Given the description of an element on the screen output the (x, y) to click on. 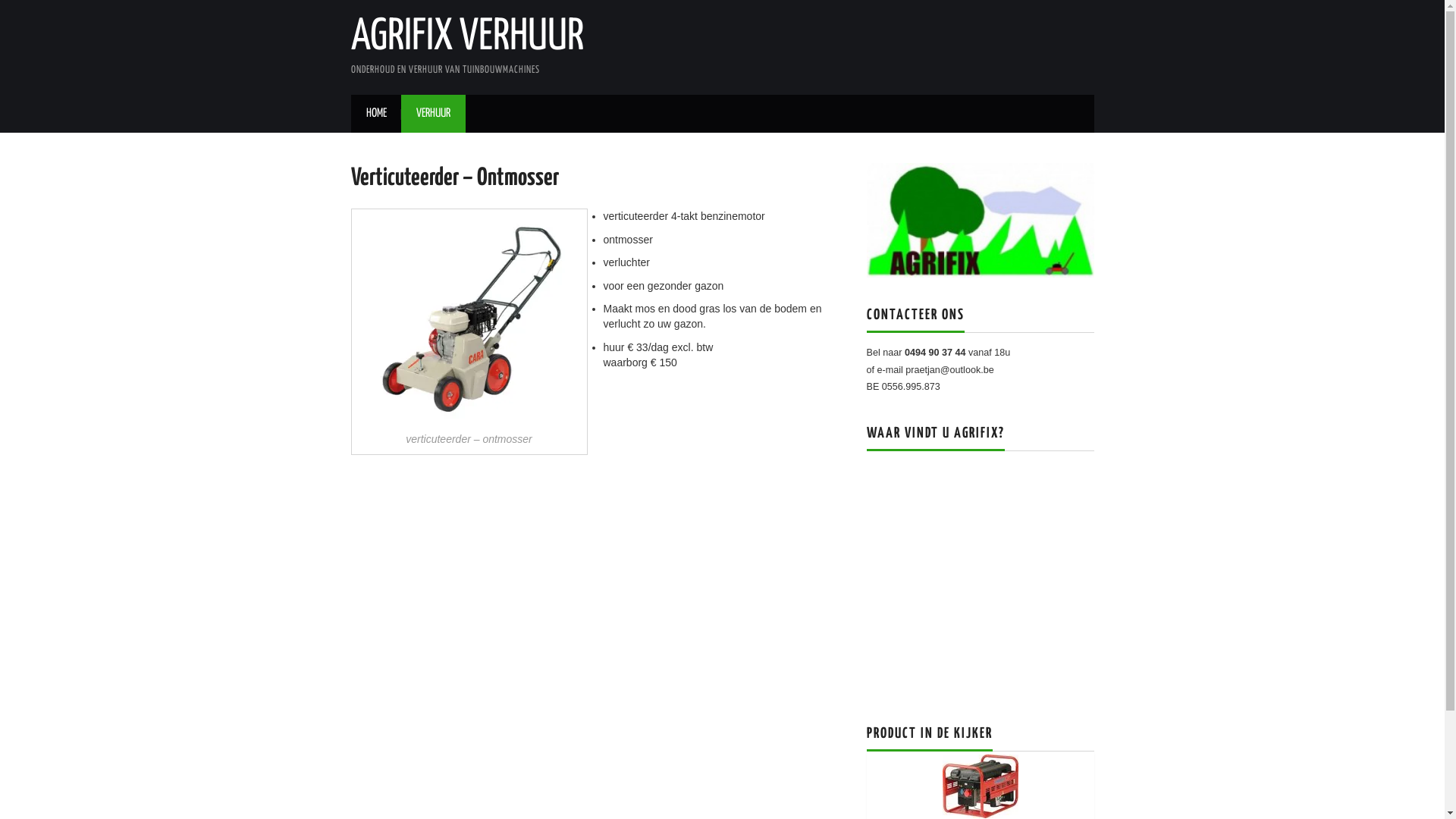
HOME Element type: text (375, 113)
Verticuteerder - ontmosser te huur Element type: hover (468, 318)
AGRIFIX VERHUUR Element type: text (466, 36)
VERHUUR Element type: text (432, 113)
